Given the description of an element on the screen output the (x, y) to click on. 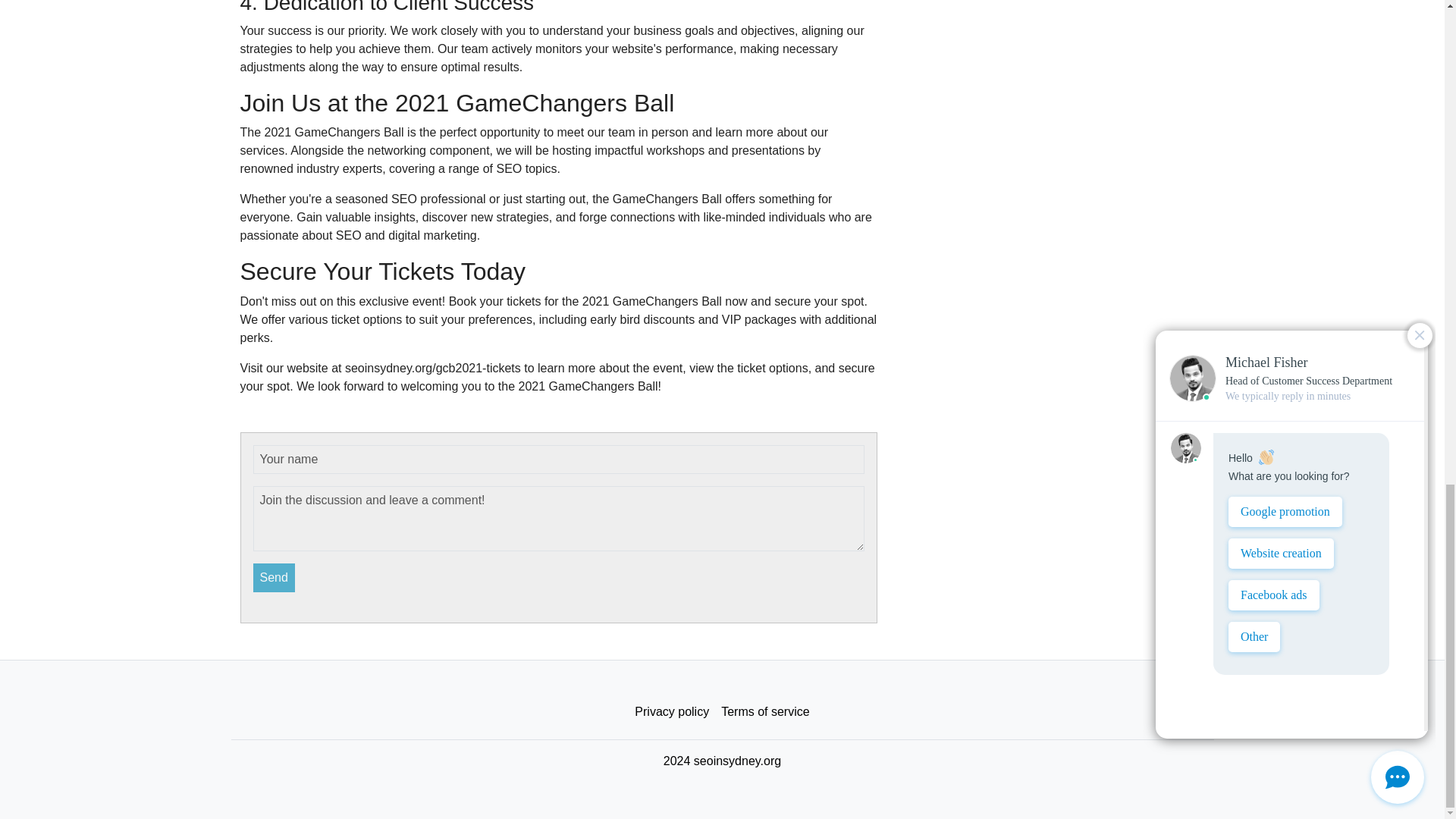
Terms of service (764, 711)
Send (274, 577)
Send (274, 577)
Privacy policy (671, 711)
